Given the description of an element on the screen output the (x, y) to click on. 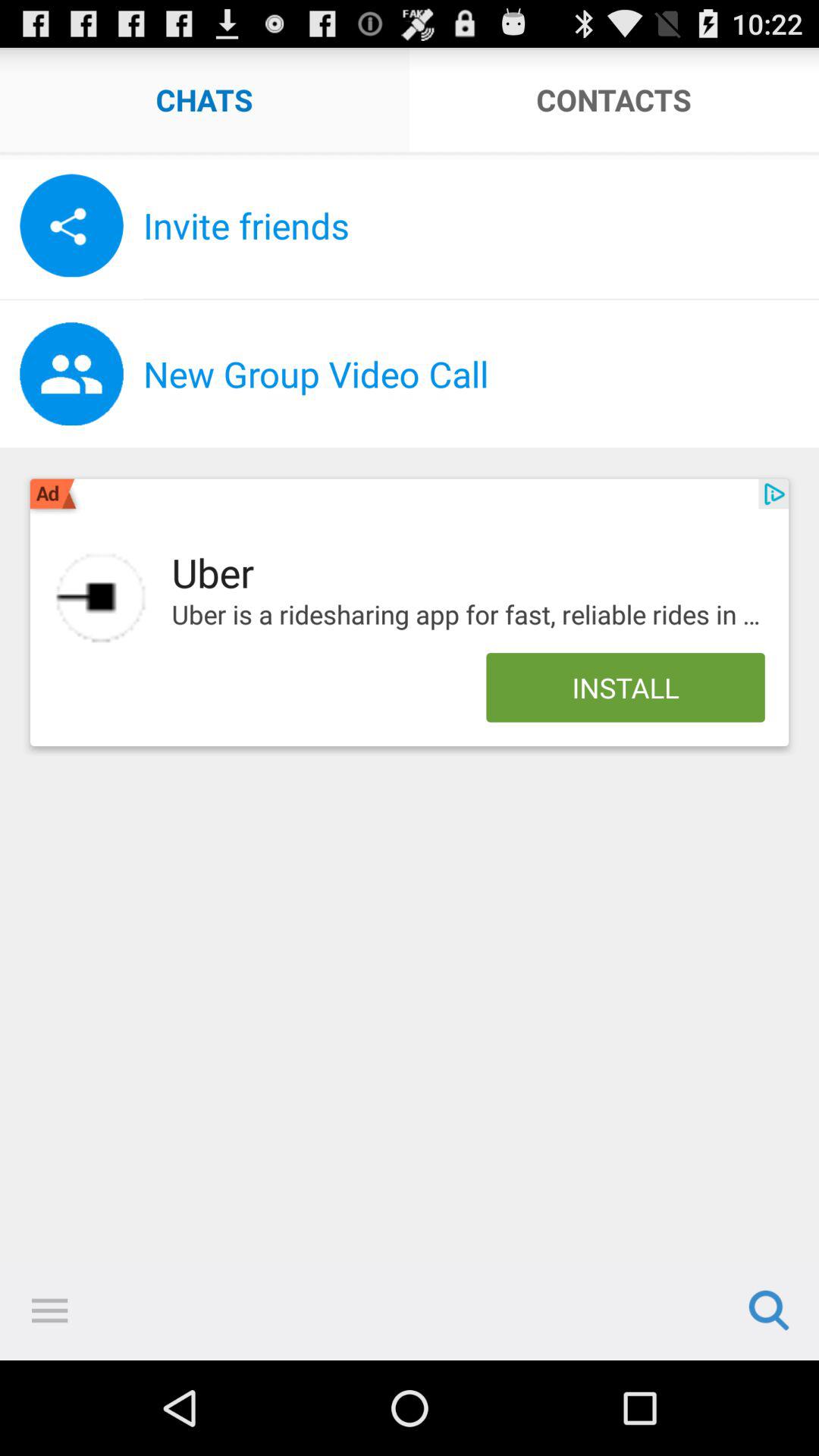
launch the icon to the left of the uber item (100, 597)
